Given the description of an element on the screen output the (x, y) to click on. 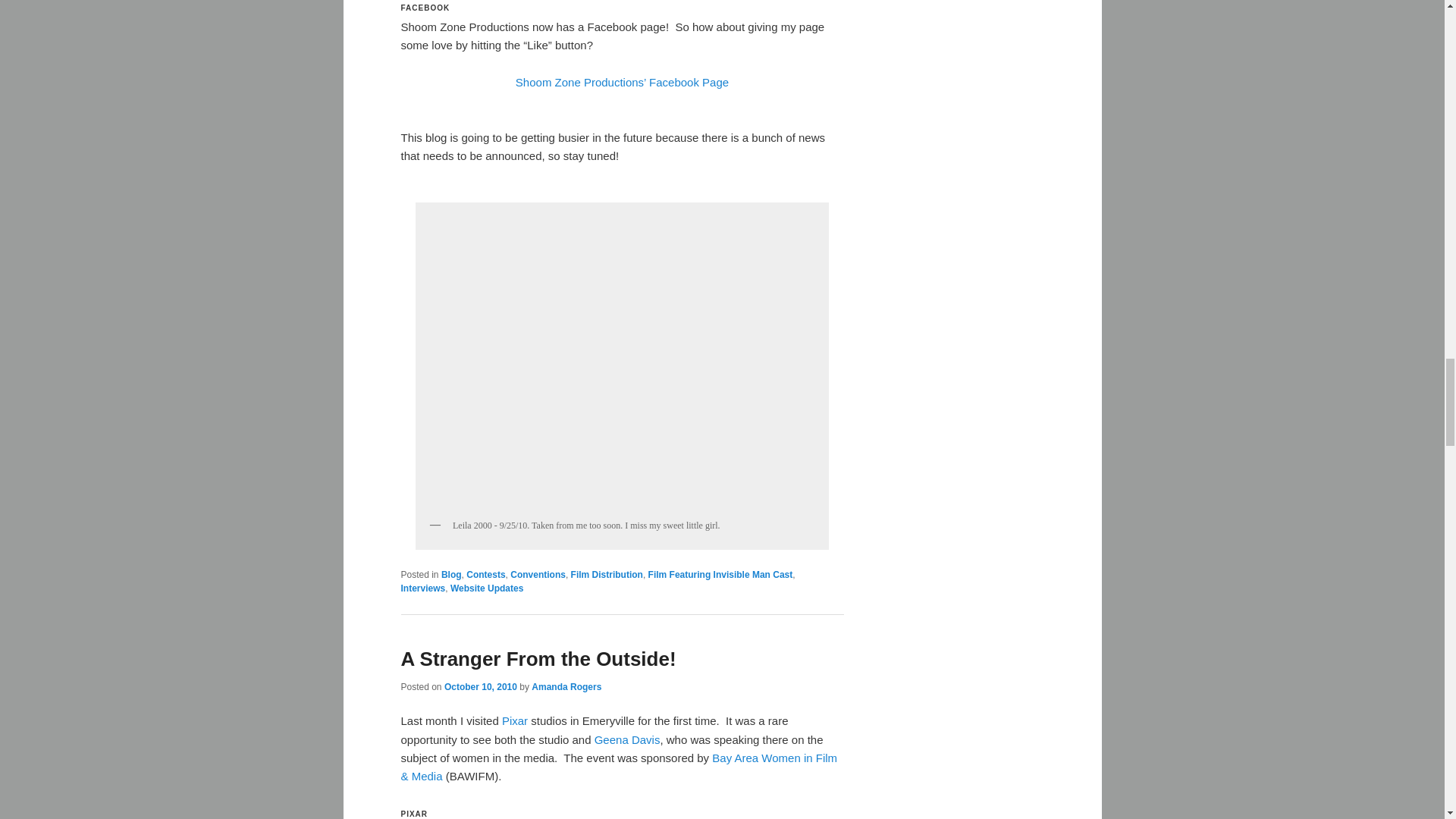
Leila (622, 360)
View all posts by Amanda Rogers (566, 686)
10:47 pm (480, 686)
